Given the description of an element on the screen output the (x, y) to click on. 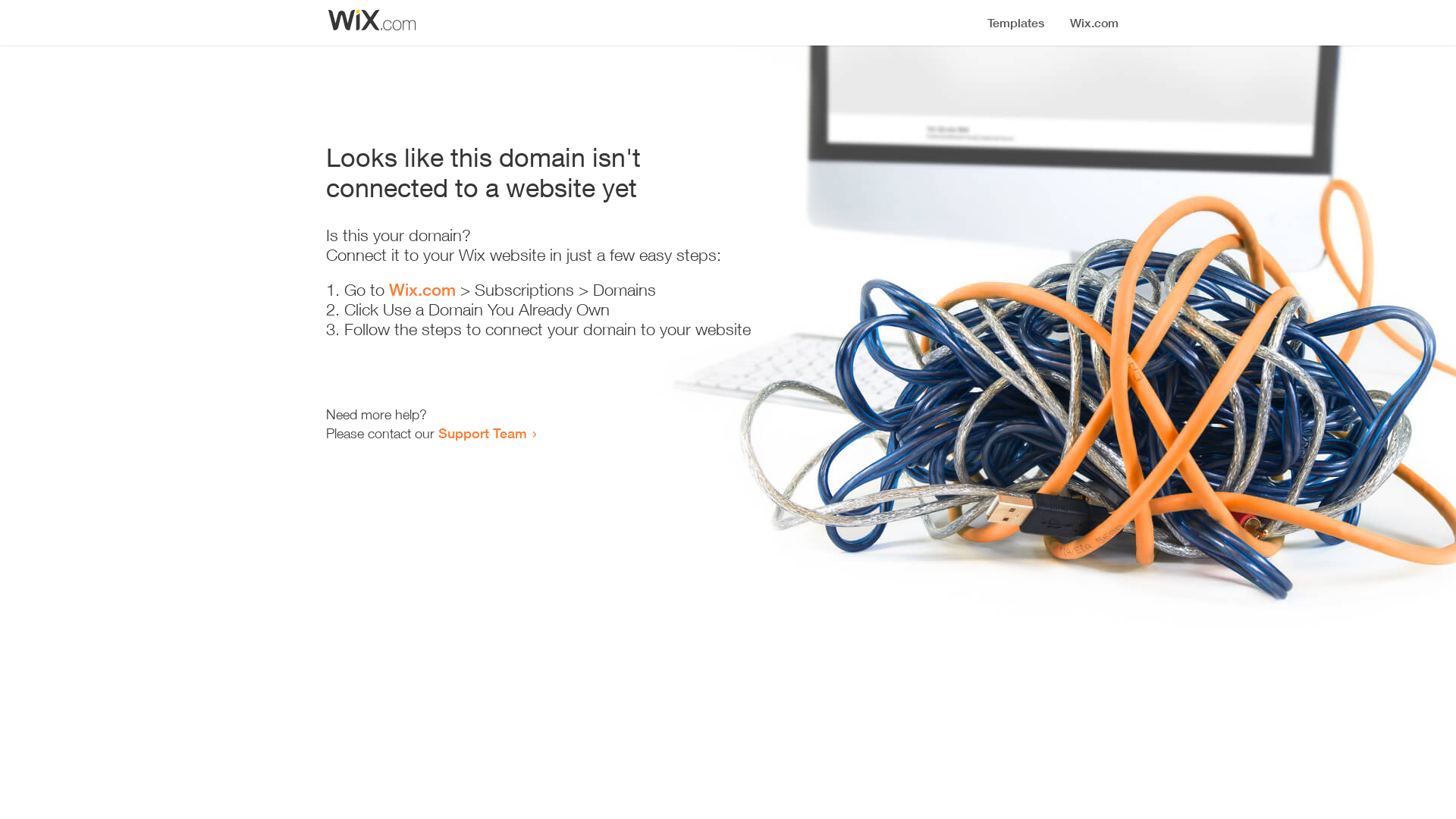
Wix.com Element type: text (422, 289)
Support Team Element type: text (482, 432)
